Given the description of an element on the screen output the (x, y) to click on. 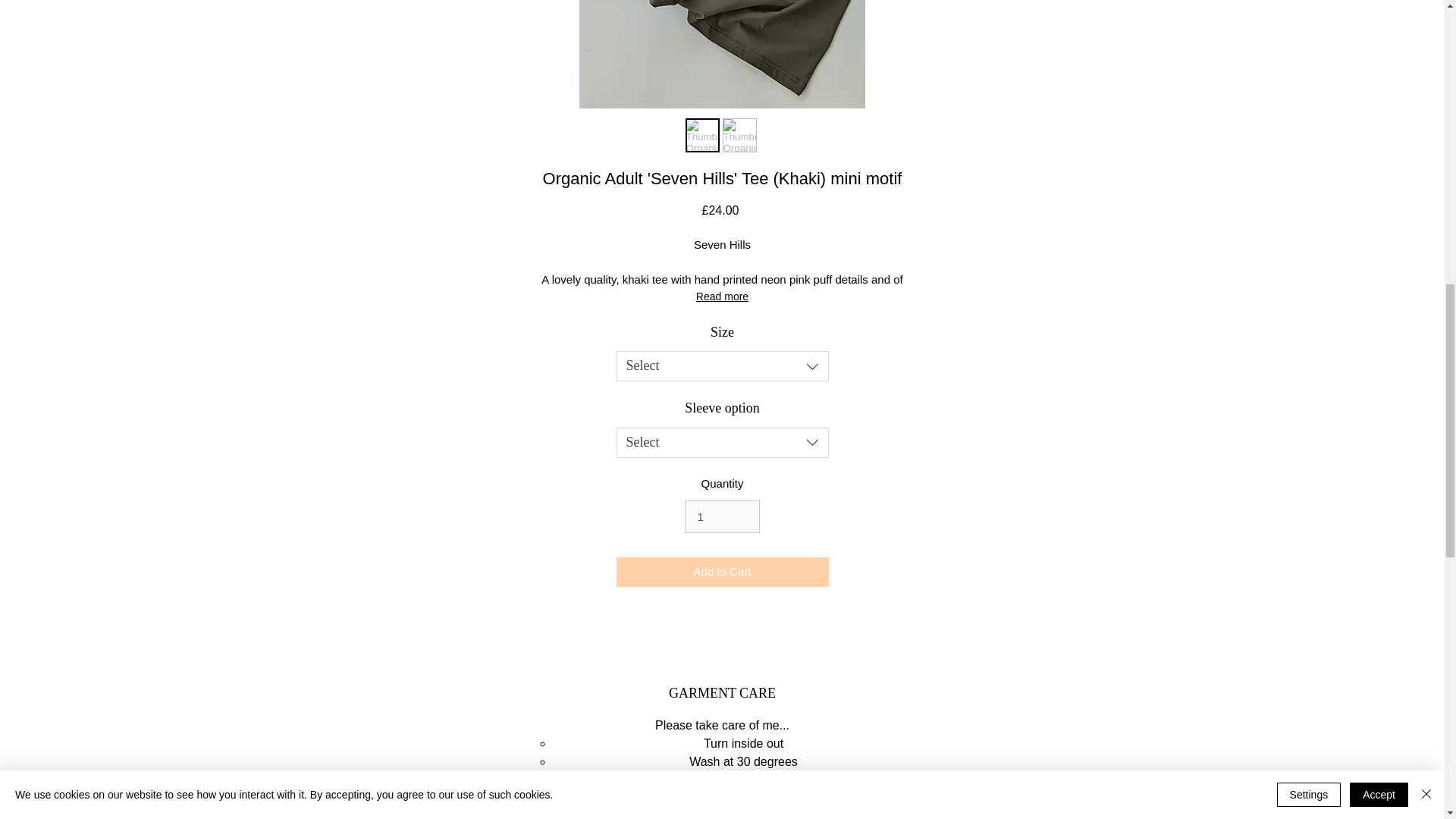
Select (721, 442)
Select (721, 366)
Add to Cart (721, 572)
1 (721, 516)
Read more (722, 296)
